Given the description of an element on the screen output the (x, y) to click on. 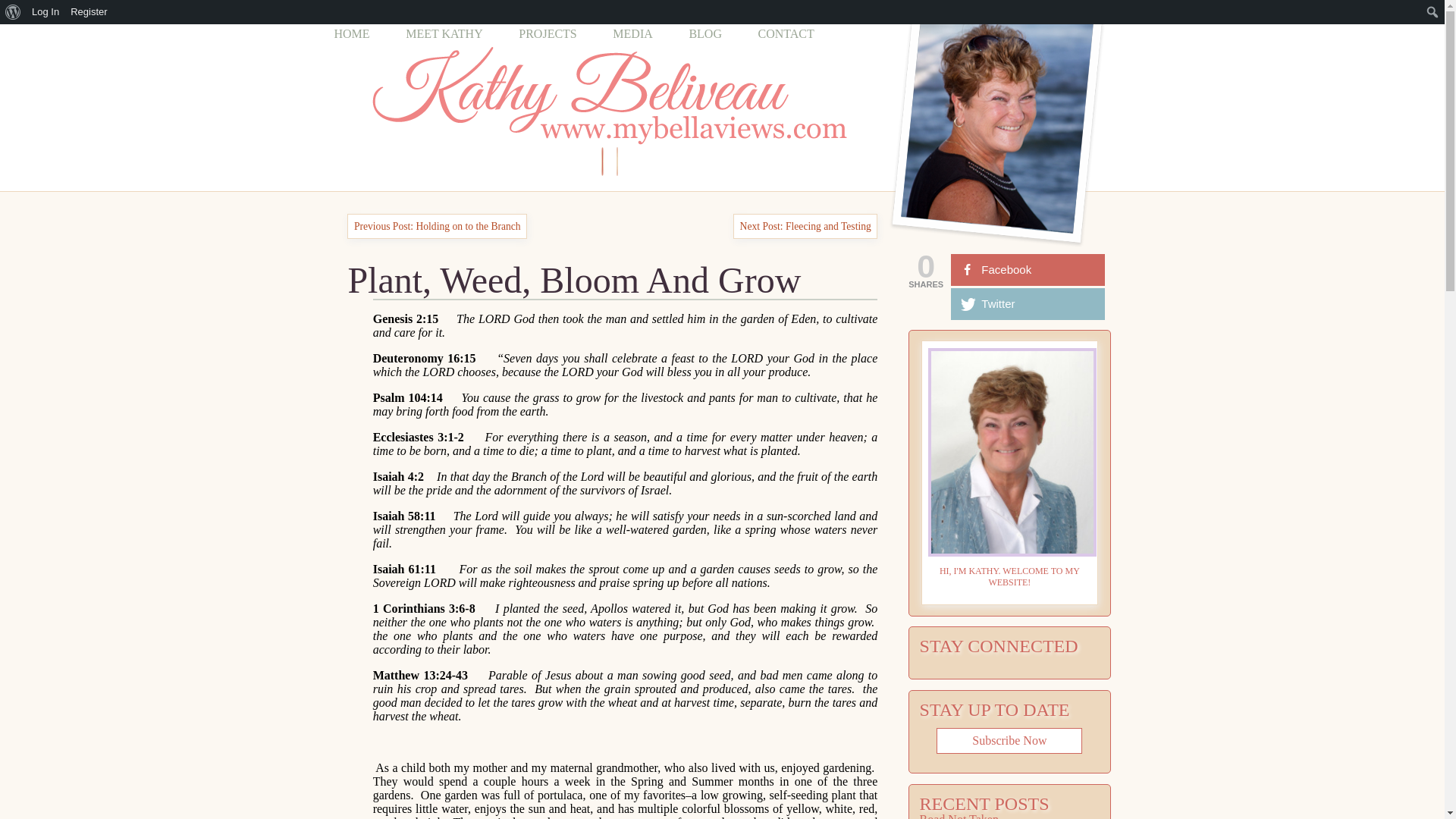
Previous Post: Holding on to the Branch (437, 226)
Facebook (1027, 269)
MEDIA (632, 33)
CONTACT (785, 33)
Road Not Taken (959, 816)
MEET KATHY (443, 33)
Twitter (1027, 304)
Subscribe Now (1008, 740)
HOME (351, 33)
PROJECTS (547, 33)
Next Post: Fleecing and Testing (805, 226)
BLOG (705, 33)
